Given the description of an element on the screen output the (x, y) to click on. 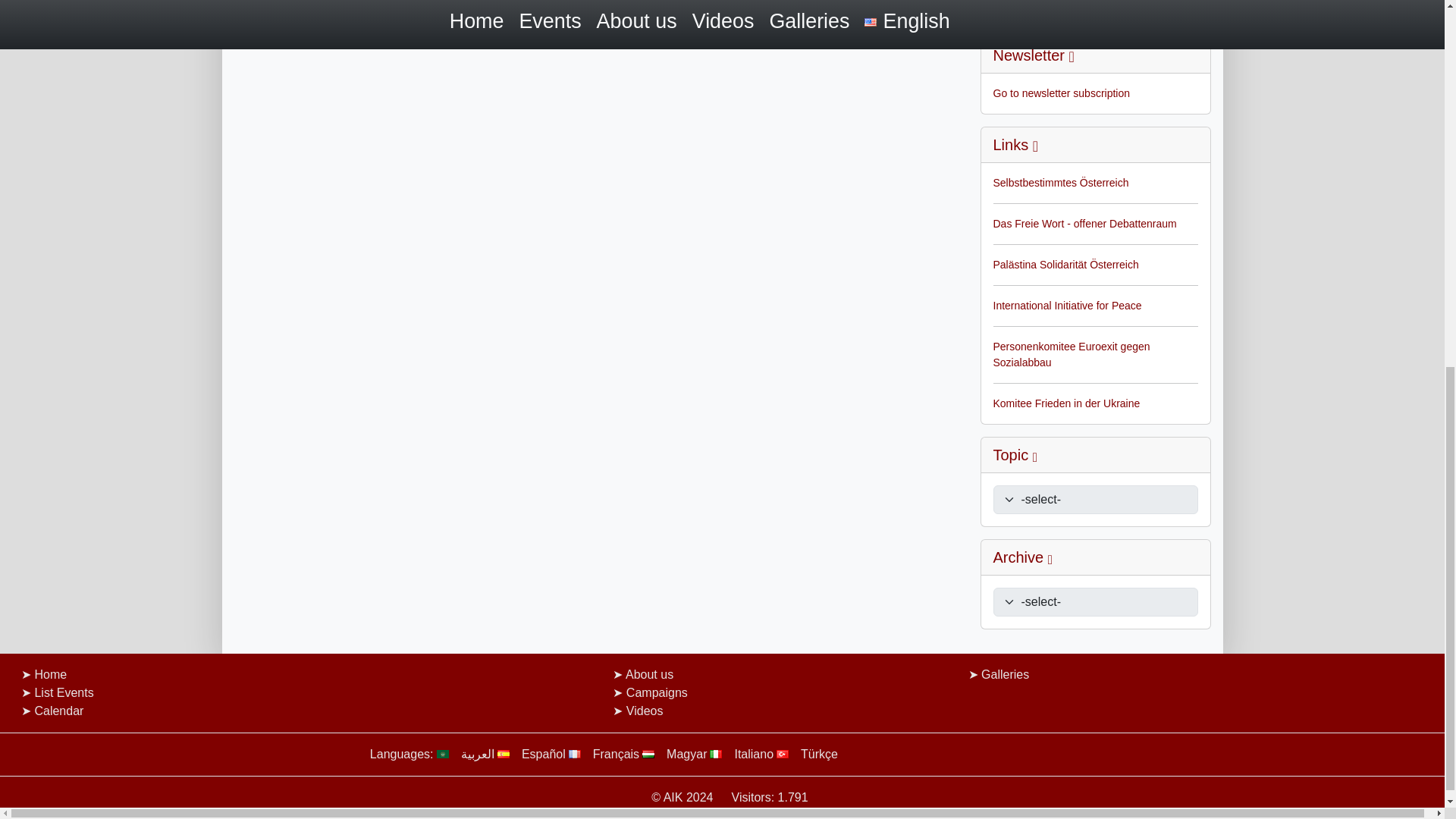
Italiano (743, 753)
Magyar (676, 753)
